Given the description of an element on the screen output the (x, y) to click on. 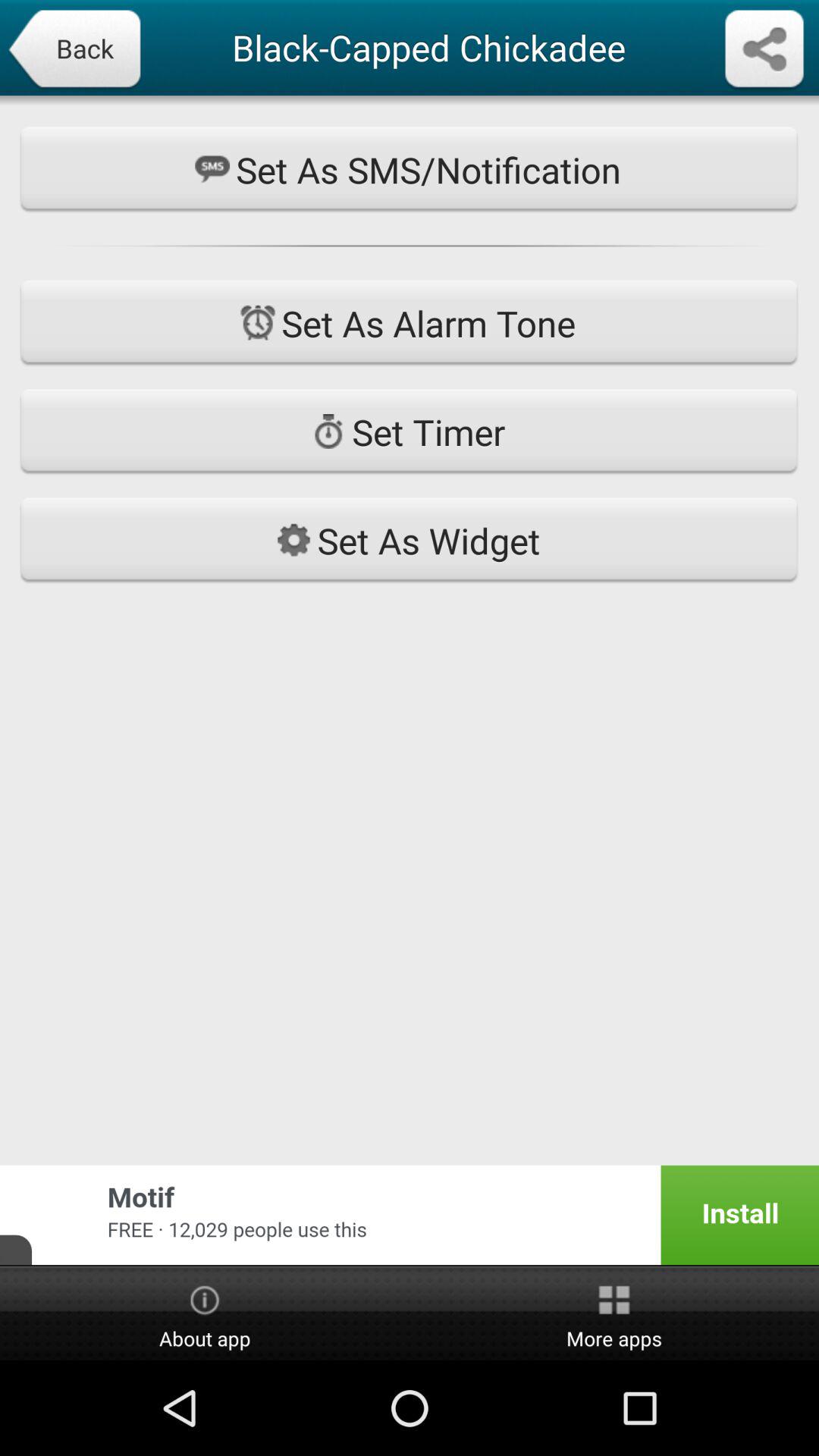
jump until the back item (73, 50)
